Given the description of an element on the screen output the (x, y) to click on. 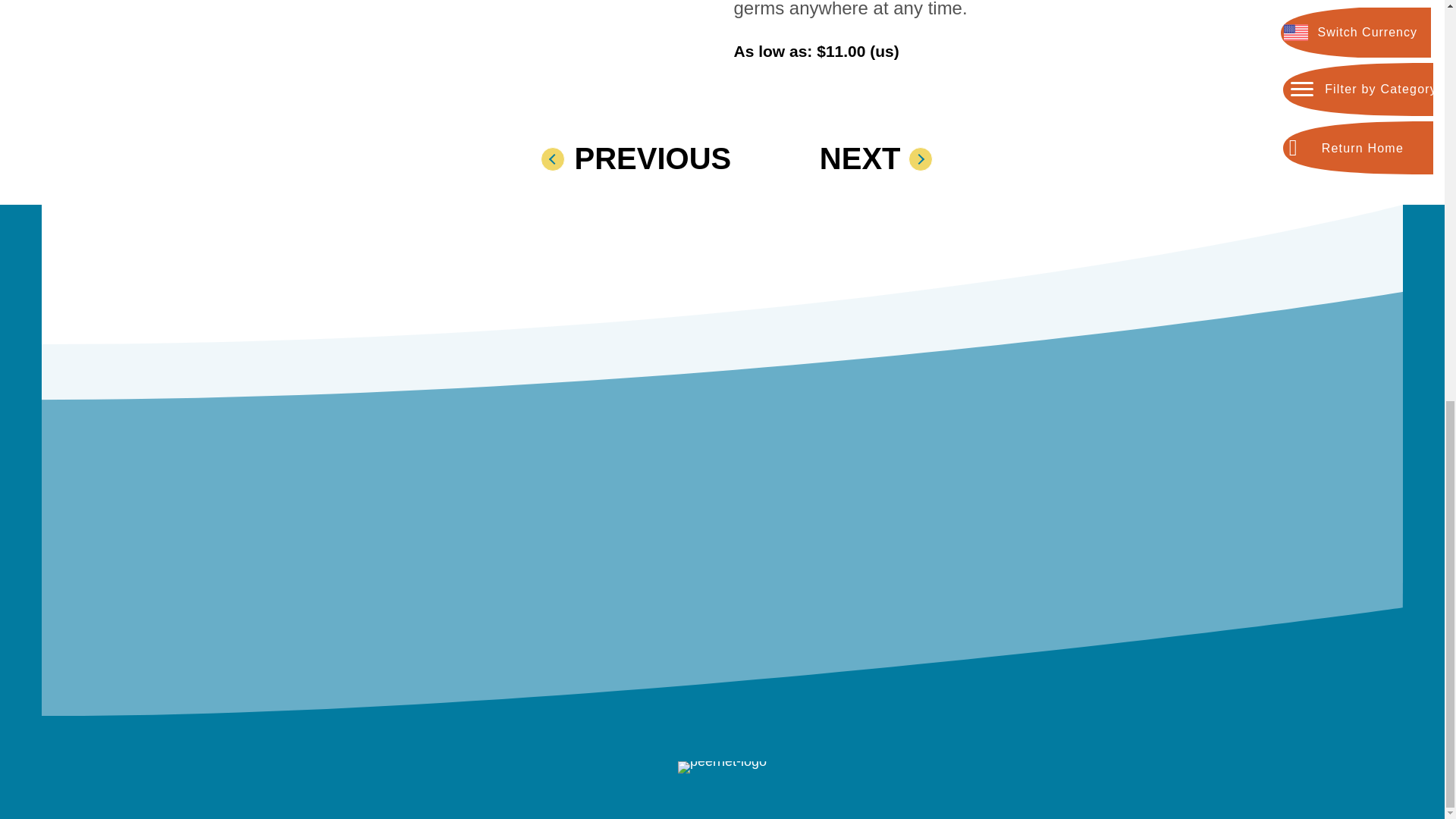
peernet-logo (722, 767)
NEXT (854, 158)
PREVIOUS (642, 158)
